Given the description of an element on the screen output the (x, y) to click on. 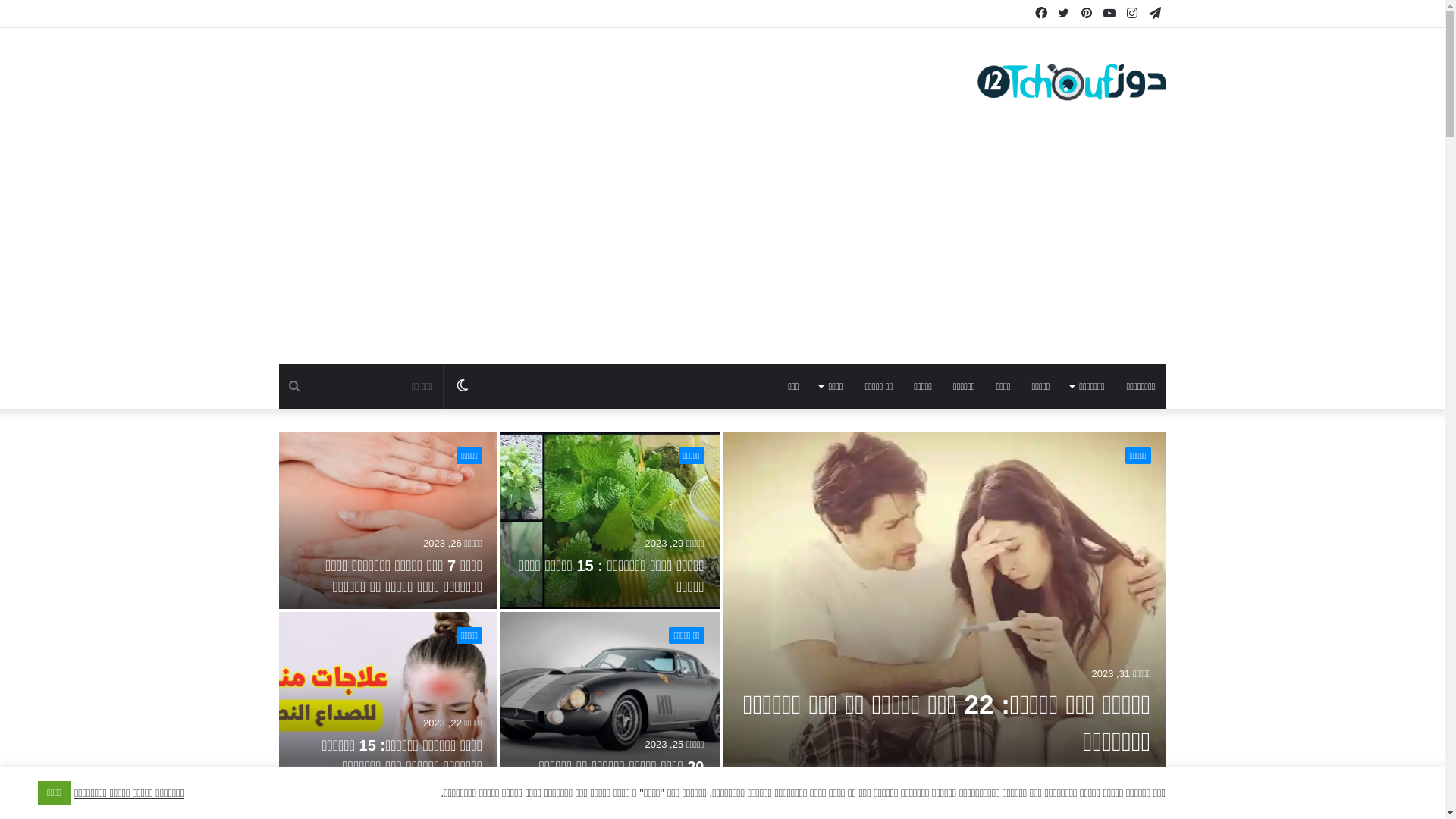
Advertisement Element type: hover (721, 250)
